Given the description of an element on the screen output the (x, y) to click on. 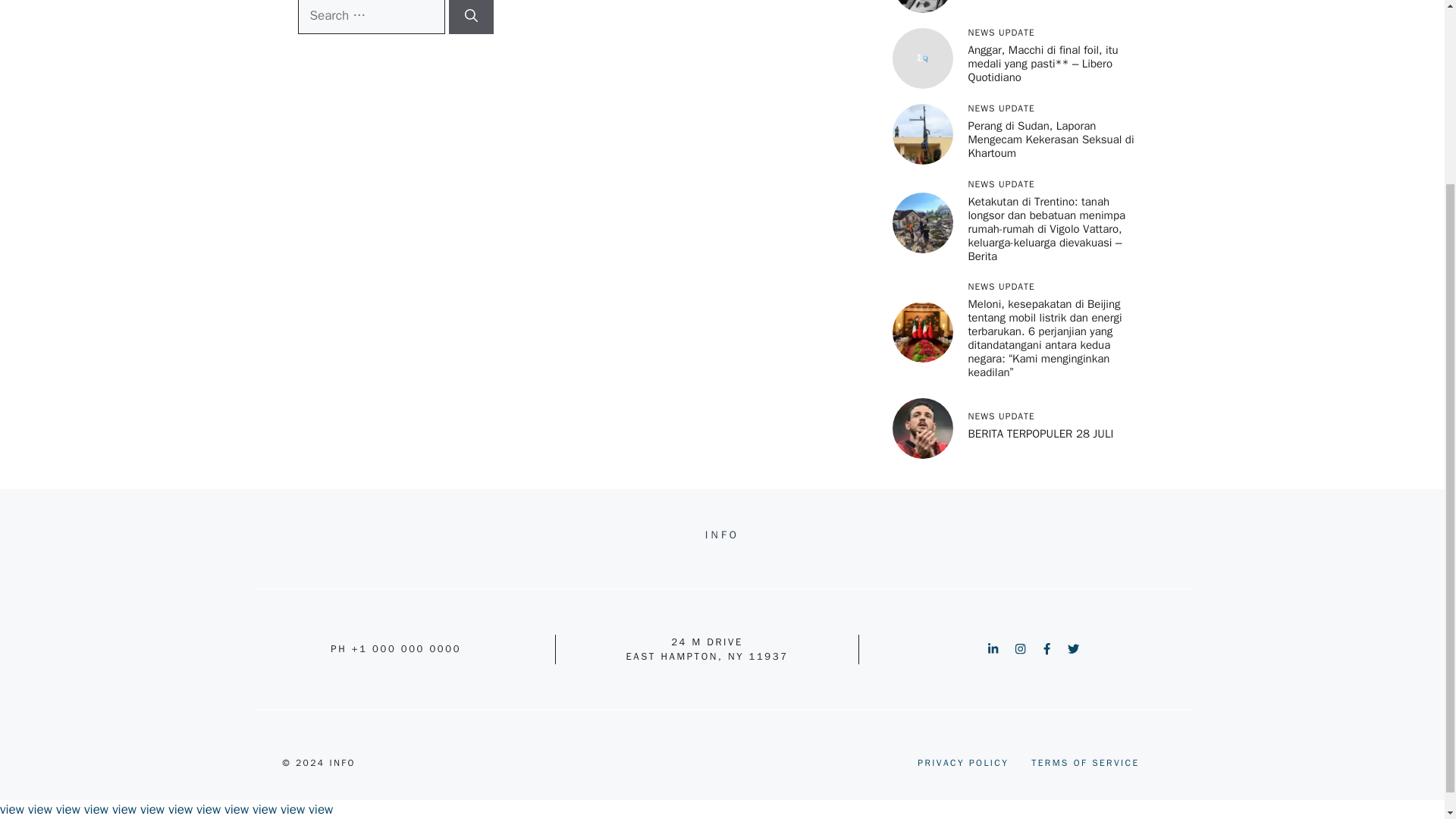
BERITA TERPOPULER 28 JULI (1040, 433)
TERMS OF SERVICE (1084, 762)
view (12, 809)
PRIVACY POLICY (963, 762)
Search for: (370, 17)
view (39, 809)
